Given the description of an element on the screen output the (x, y) to click on. 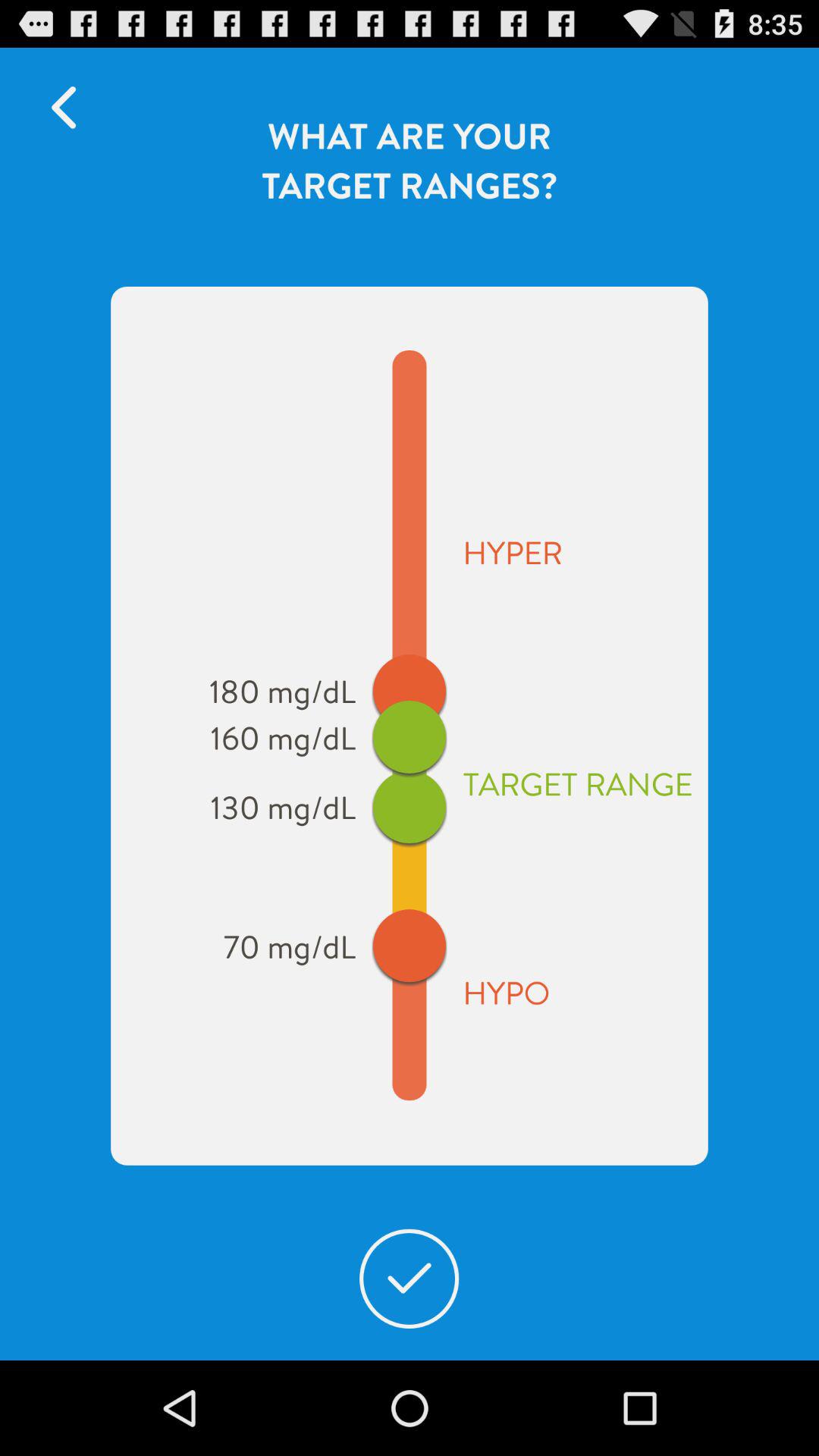
choose item at the top left corner (71, 107)
